Given the description of an element on the screen output the (x, y) to click on. 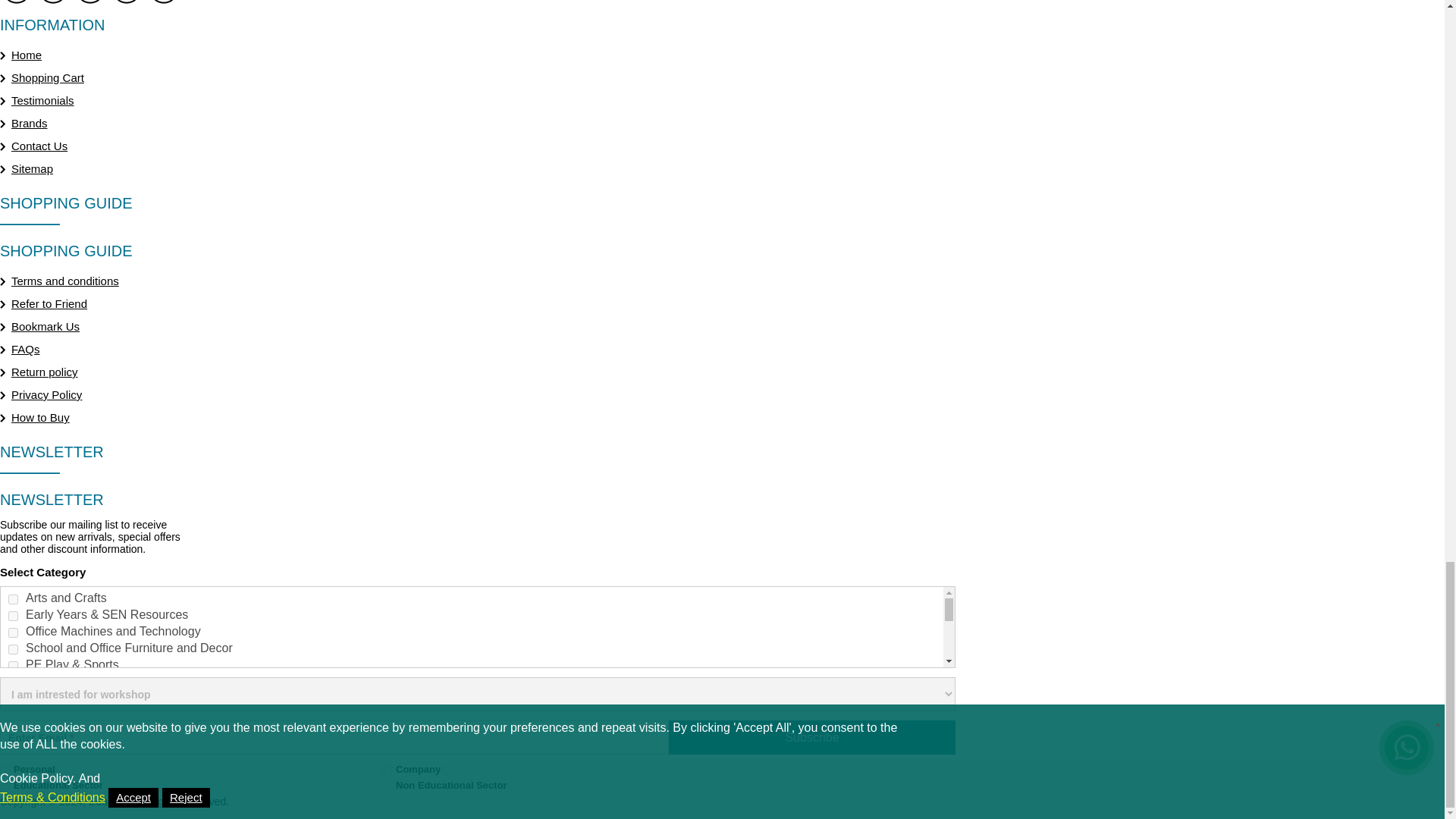
7 (12, 699)
6 (12, 682)
1 (5, 771)
2 (12, 615)
338 (12, 766)
2 (386, 771)
17 (12, 716)
147 (12, 782)
124 (12, 749)
1 (12, 599)
5 (12, 665)
Subscribe (811, 737)
153 (12, 799)
4 (12, 649)
3 (12, 633)
